Given the description of an element on the screen output the (x, y) to click on. 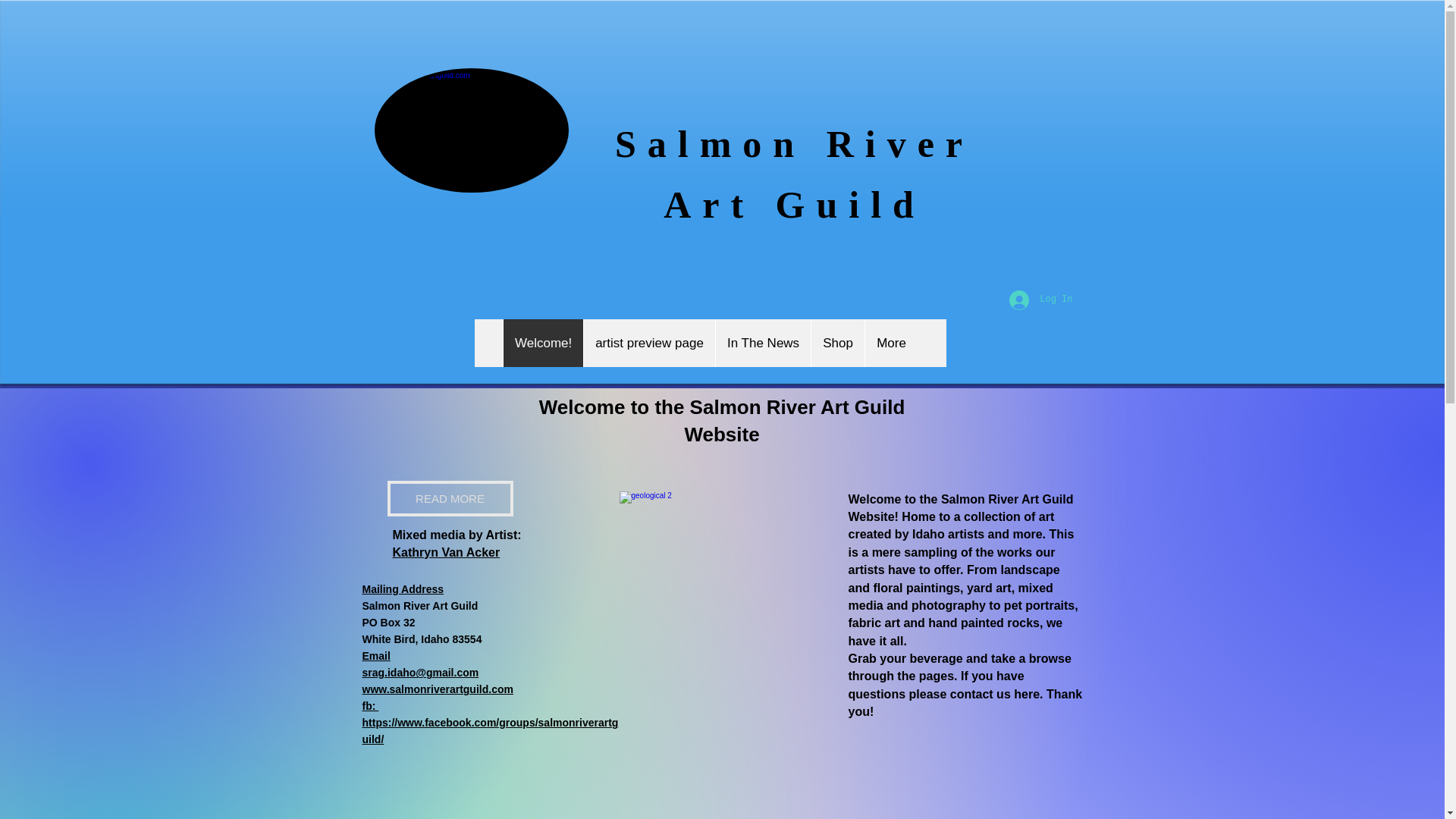
Idaho artists (946, 533)
landscape (1029, 569)
Salmon River (794, 143)
srag logo salmon river art guild (471, 129)
artist preview page (648, 342)
floral (887, 587)
Shop (837, 342)
Log In (1040, 299)
www.salmonriverartguild.com (437, 689)
READ MORE (449, 498)
Kathryn Van Acker (446, 553)
Welcome! (542, 342)
In The News (762, 342)
Art Guild (793, 204)
